Given the description of an element on the screen output the (x, y) to click on. 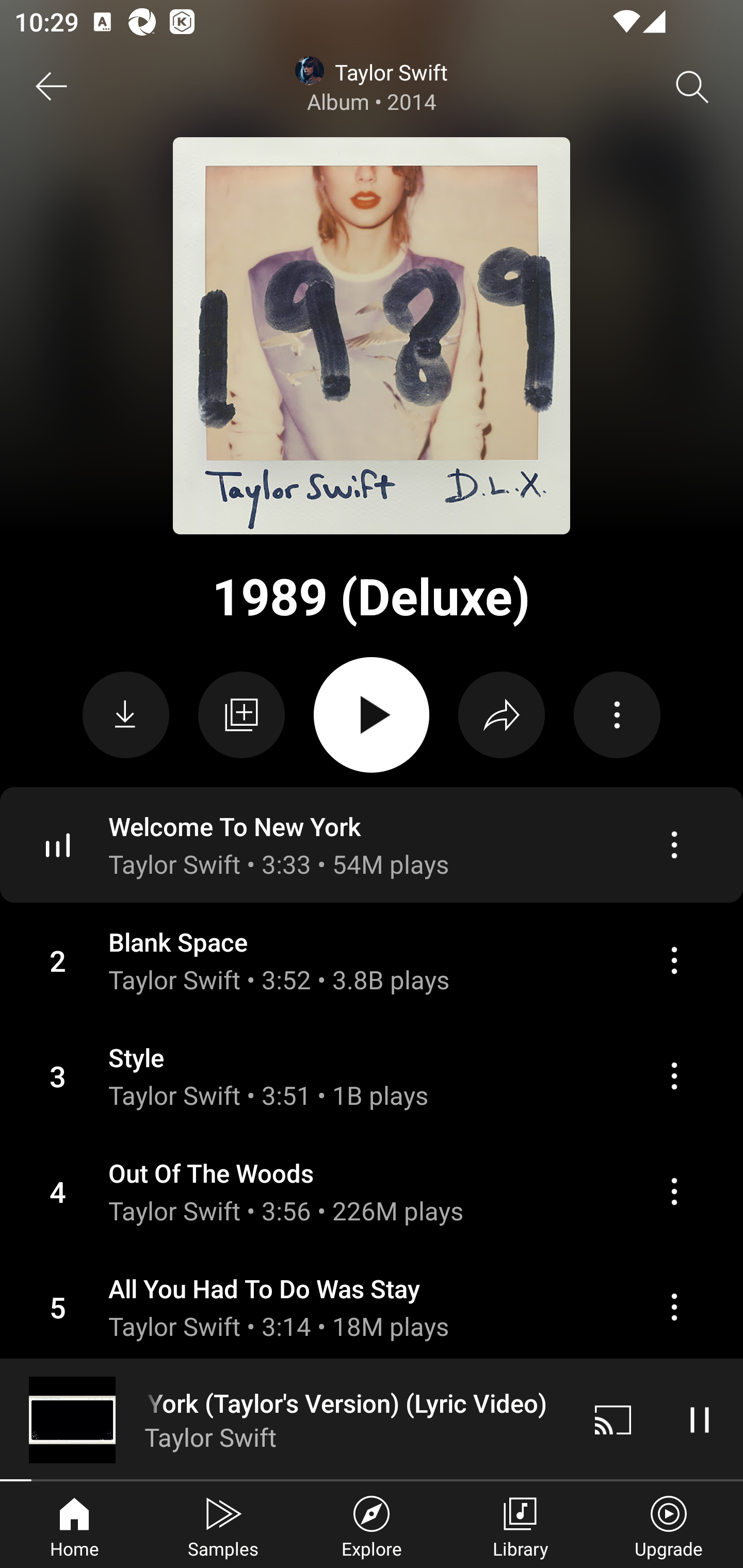
Back (50, 86)
Search (692, 86)
PLAY ALL (371, 714)
Download (125, 714)
Save to library (241, 714)
Share (501, 714)
Action menu (616, 714)
Action menu (371, 845)
Action menu (673, 844)
Action menu (371, 960)
Action menu (673, 960)
Action menu (371, 1075)
Action menu (673, 1076)
Action menu (371, 1191)
Action menu (673, 1191)
Action menu (371, 1306)
Action menu (673, 1306)
Cast. Disconnected (612, 1419)
Pause video (699, 1419)
Home (74, 1524)
Samples (222, 1524)
Explore (371, 1524)
Library (519, 1524)
Upgrade (668, 1524)
